Given the description of an element on the screen output the (x, y) to click on. 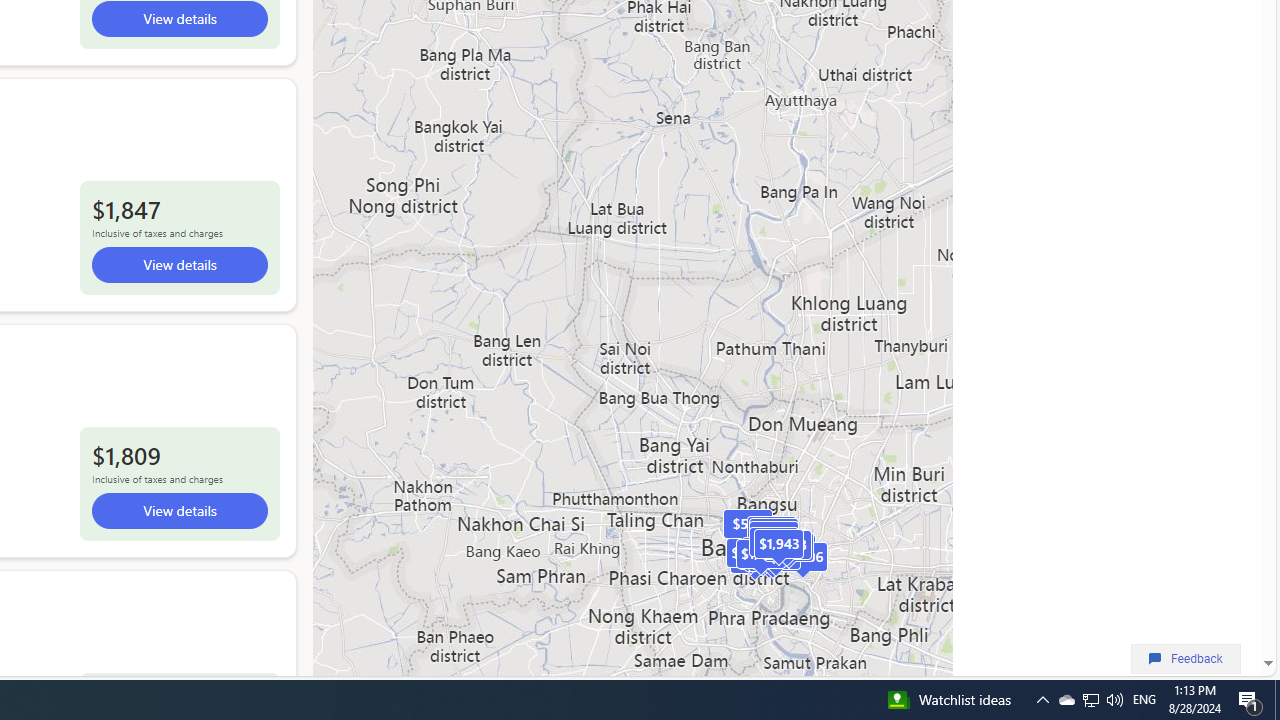
View details (178, 511)
